Given the description of an element on the screen output the (x, y) to click on. 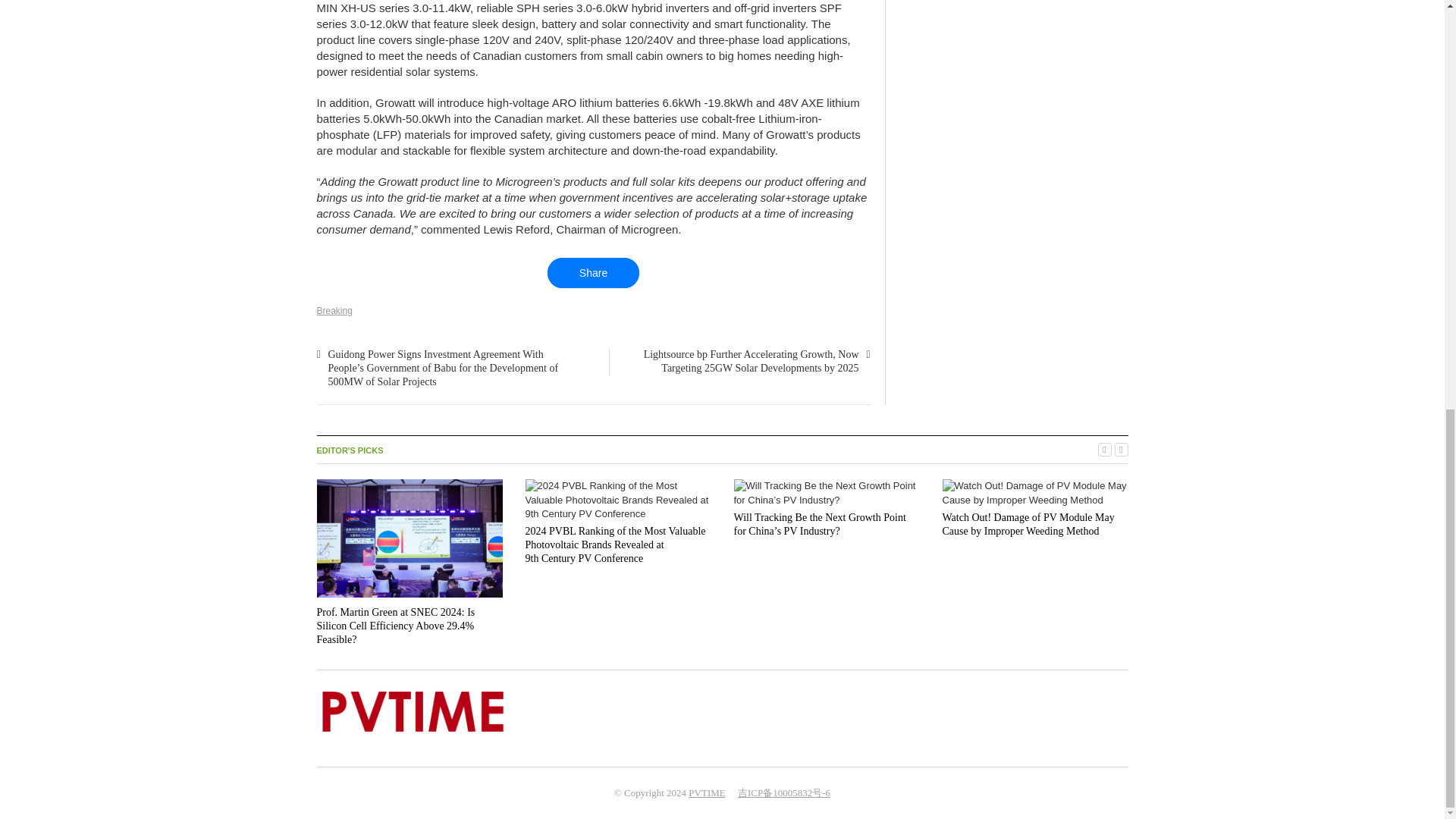
Breaking (334, 310)
Share (593, 272)
